Given the description of an element on the screen output the (x, y) to click on. 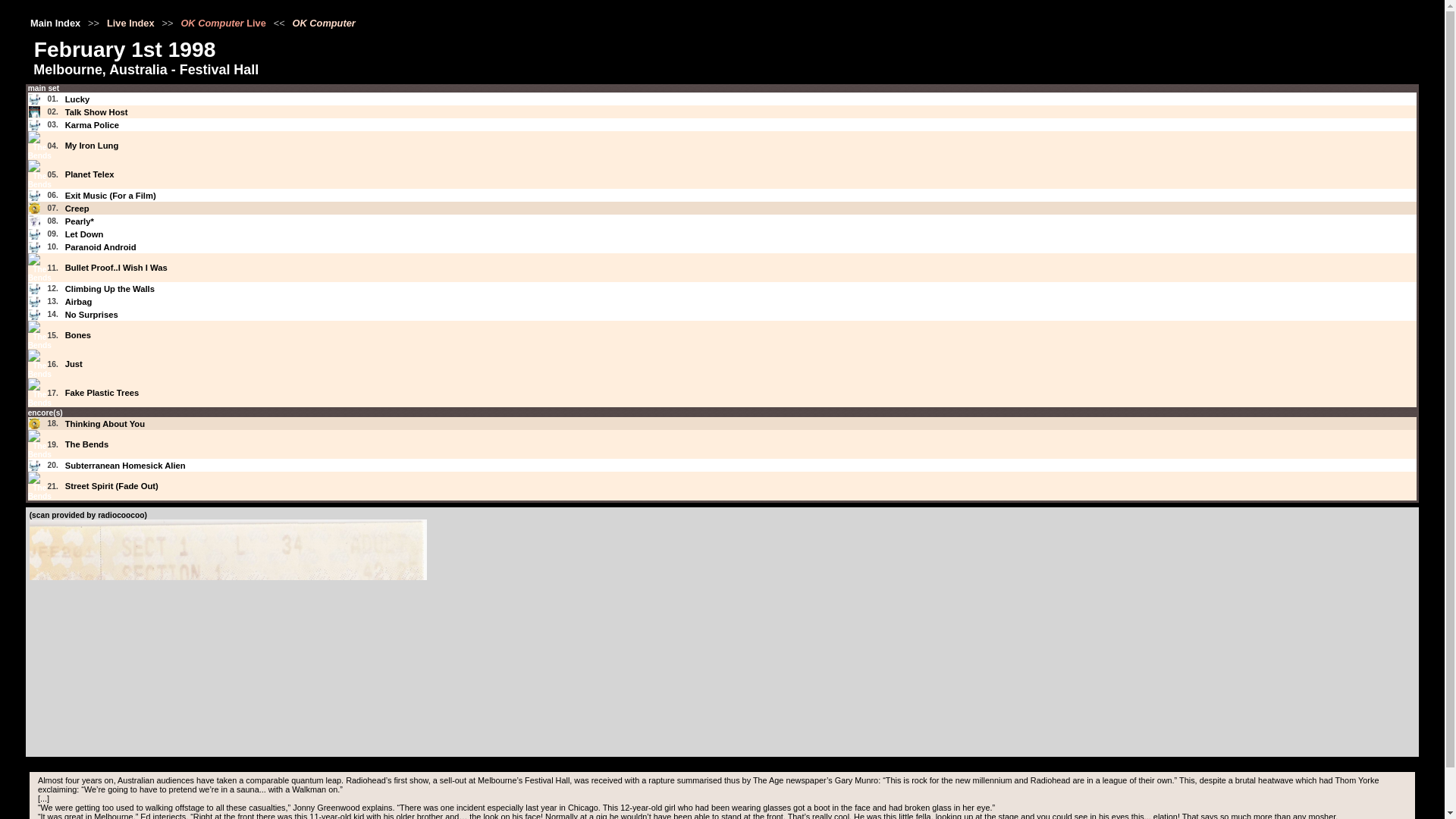
Climbing Up the Walls (109, 288)
The Bends (87, 443)
Karma Police (92, 124)
Let Down (84, 234)
My Iron Lung (92, 144)
Main Index (55, 22)
Bullet Proof..I Wish I Was (116, 266)
Creep (76, 207)
Subterranean Homesick Alien (125, 465)
Paranoid Android (100, 246)
OK Computer (34, 194)
OK Computer (34, 124)
Let Down (84, 234)
Airbag (79, 301)
OK Computer (322, 22)
